Given the description of an element on the screen output the (x, y) to click on. 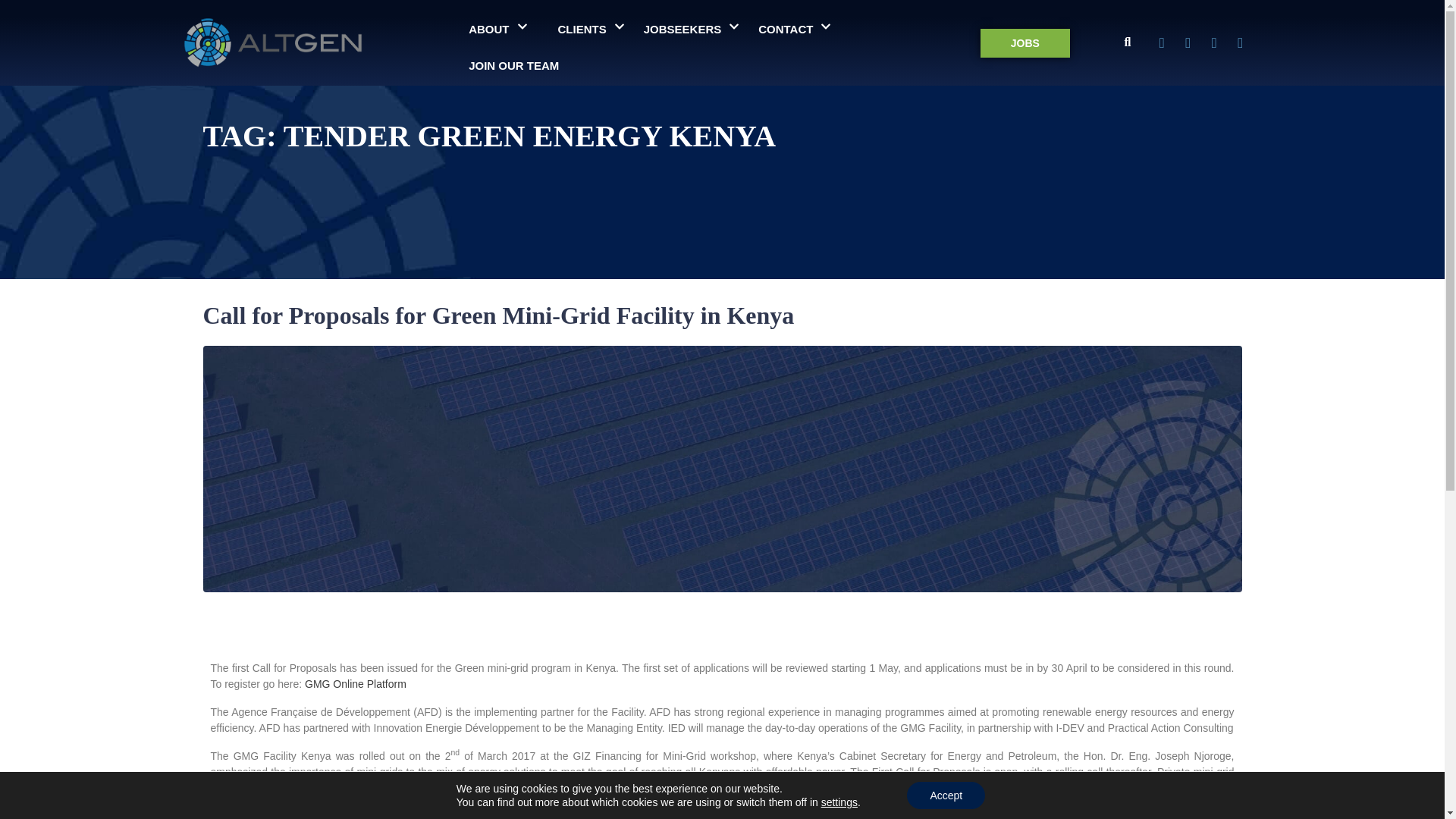
CONTACT (793, 29)
JOBSEEKERS (692, 29)
Call for Proposals for Green Mini-Grid Facility in Kenya (498, 315)
ABOUT (496, 29)
CLIENTS (591, 29)
JOIN OUR TEAM (512, 65)
Call for Proposals for Green Mini-Grid Facility in Kenya (498, 315)
JOBS (1024, 42)
